Given the description of an element on the screen output the (x, y) to click on. 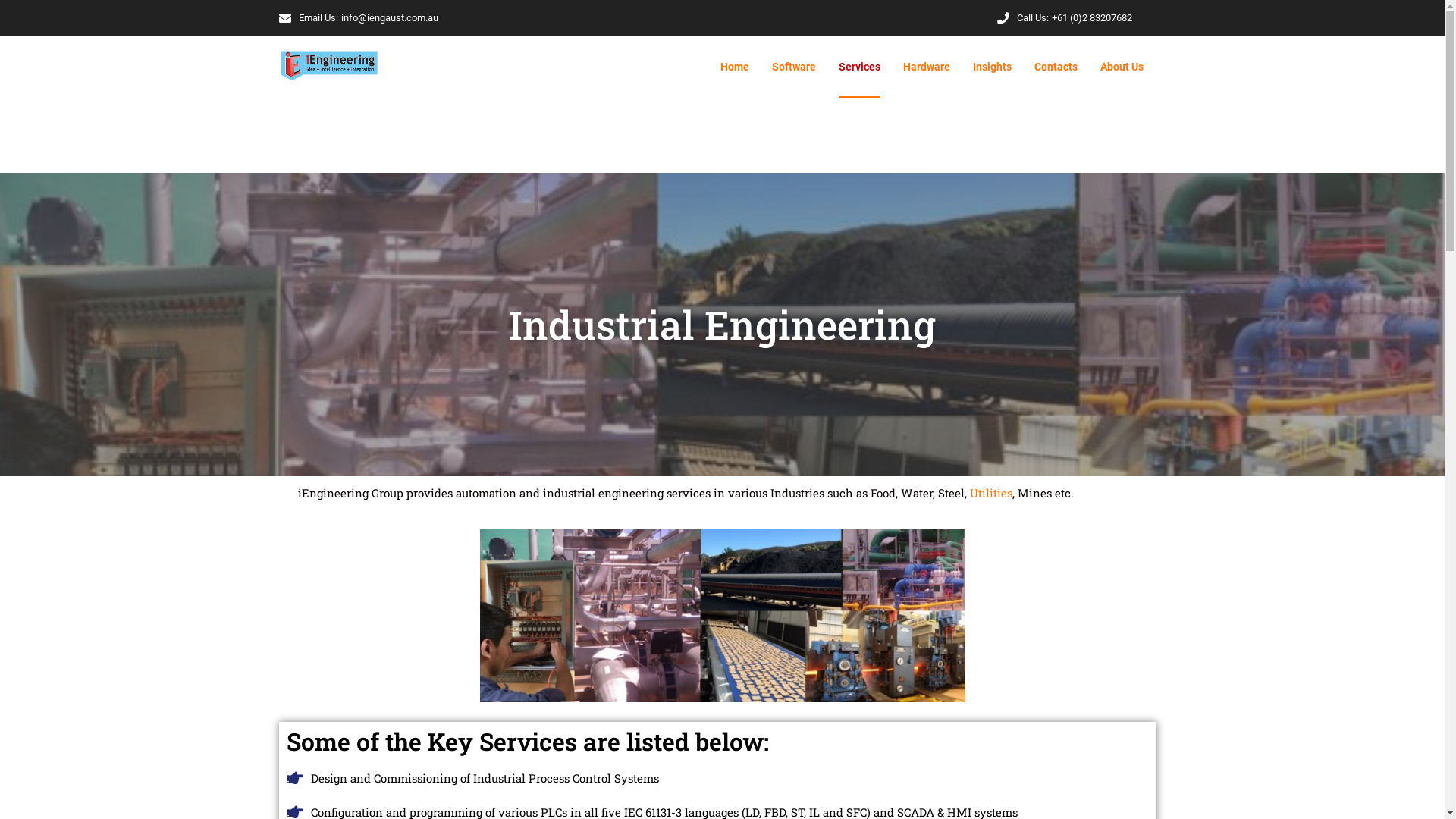
Utilities Element type: text (988, 492)
About Us Element type: text (1120, 66)
Software Element type: text (793, 66)
Insights Element type: text (991, 66)
Services Element type: text (859, 66)
Hardware Element type: text (925, 66)
Contacts Element type: text (1055, 66)
info@iengaust.com.au Element type: text (389, 17)
Home Element type: text (734, 66)
+61 (0)2 83207682 Element type: text (1091, 17)
